Given the description of an element on the screen output the (x, y) to click on. 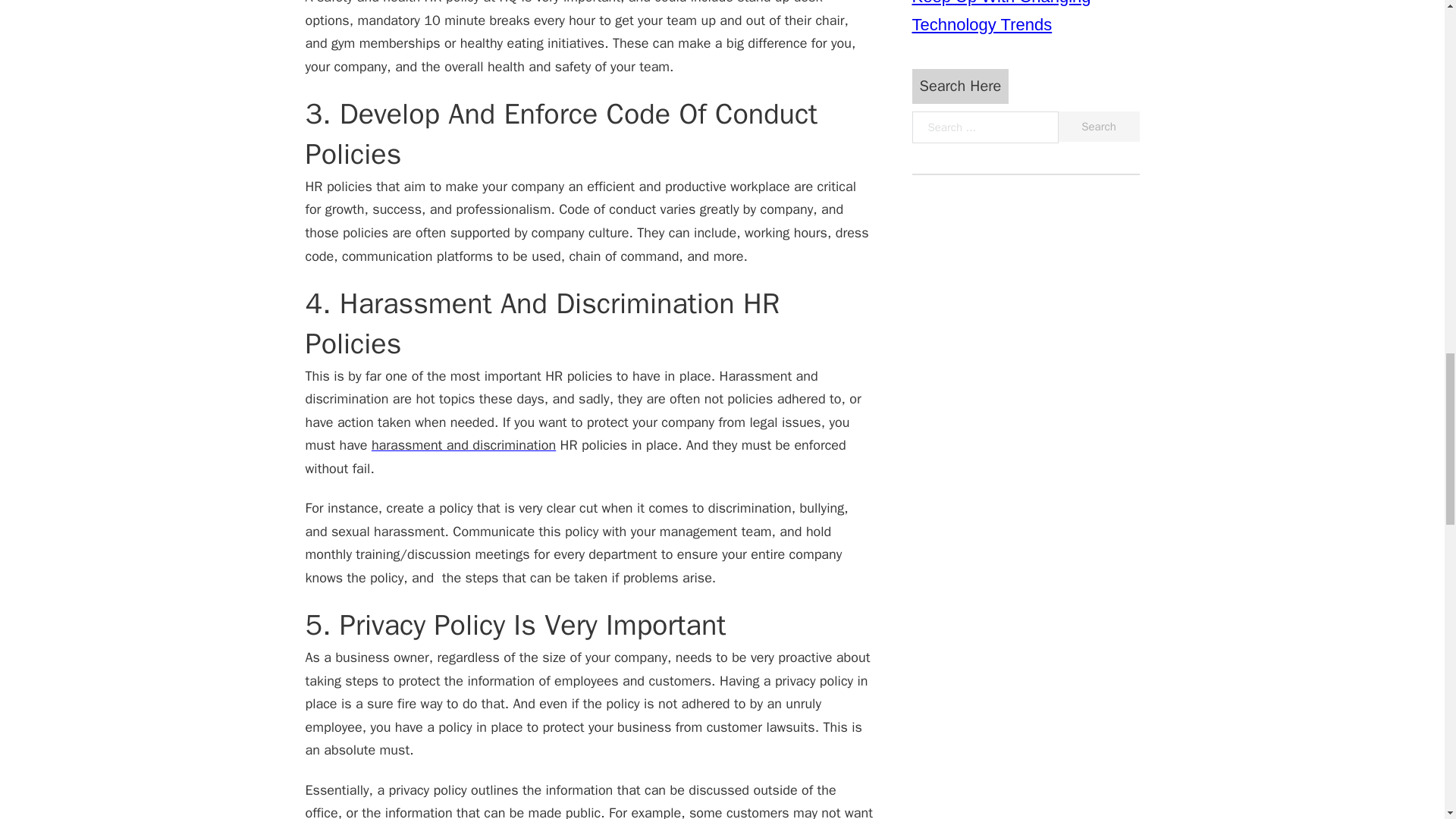
harassment and discrimination (463, 444)
